Given the description of an element on the screen output the (x, y) to click on. 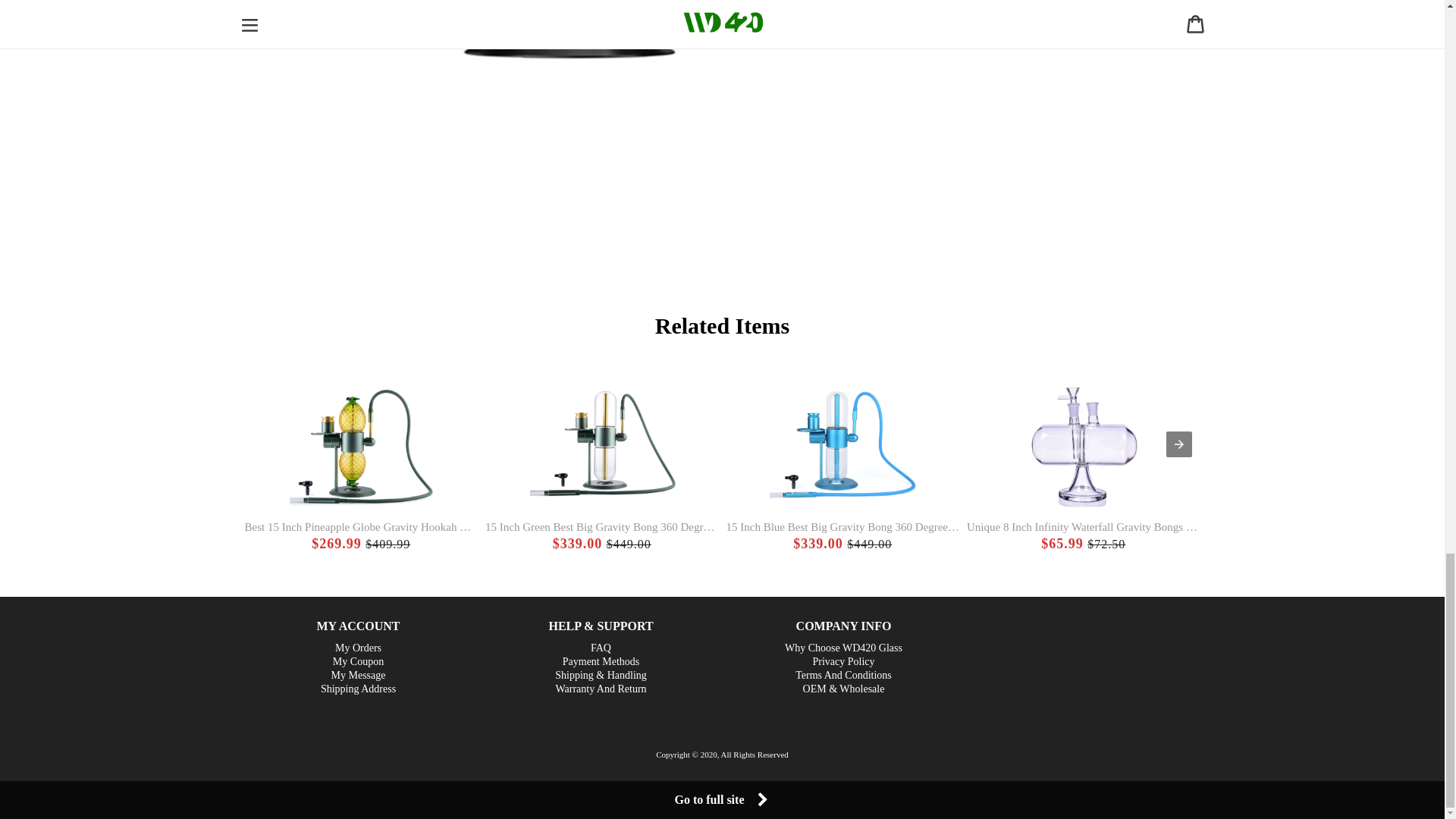
My Coupon (358, 661)
COMPANY INFO (843, 625)
Shipping Address (358, 688)
Warranty And Return (600, 688)
Why Choose WD420 Glass (843, 647)
My Orders (357, 647)
